Given the description of an element on the screen output the (x, y) to click on. 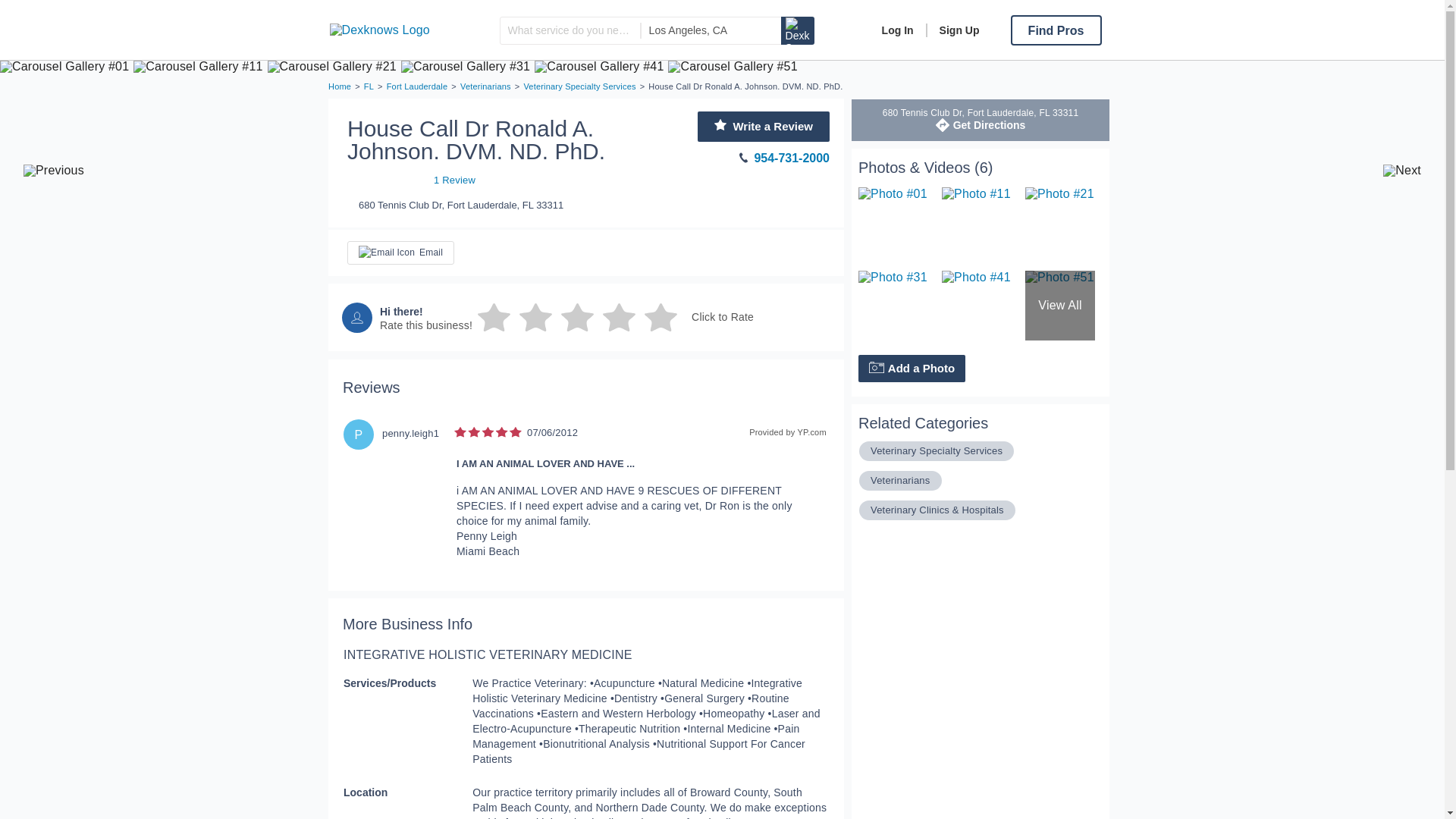
Email (400, 252)
Veterinarians (485, 85)
Veterinary Specialty Services (578, 85)
FL (369, 85)
Write a Review (763, 126)
Fort Lauderdale (417, 85)
Log In (898, 30)
Sign Up (952, 30)
Los Angeles, CA (711, 30)
Add a Photo (912, 368)
Veterinarians (900, 479)
Find (796, 30)
Find Pros (1055, 30)
954-731-2000 (740, 157)
1 Review (411, 178)
